Given the description of an element on the screen output the (x, y) to click on. 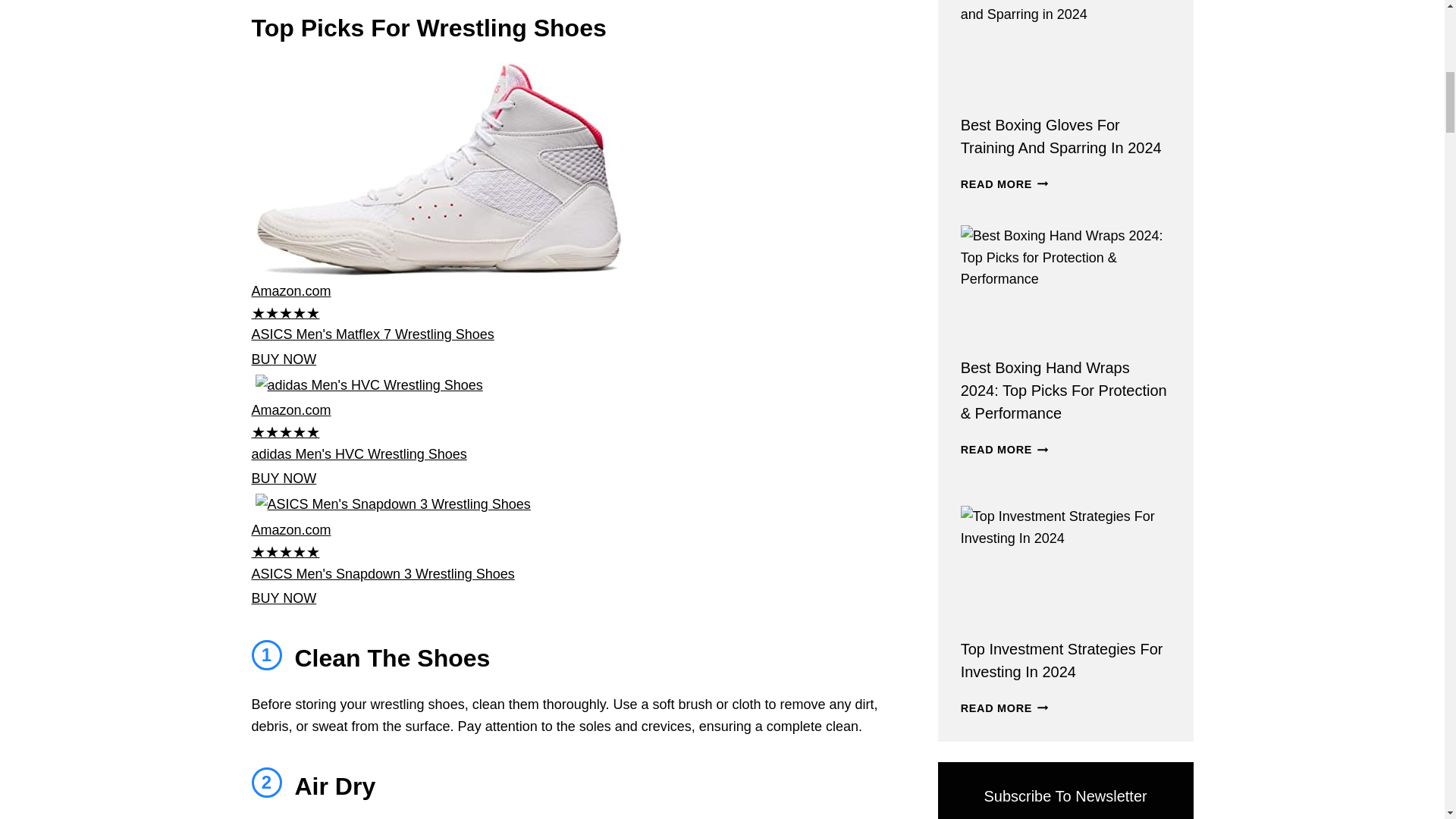
BUY NOW (284, 359)
BUY NOW (284, 598)
BUY NOW (284, 478)
